Given the description of an element on the screen output the (x, y) to click on. 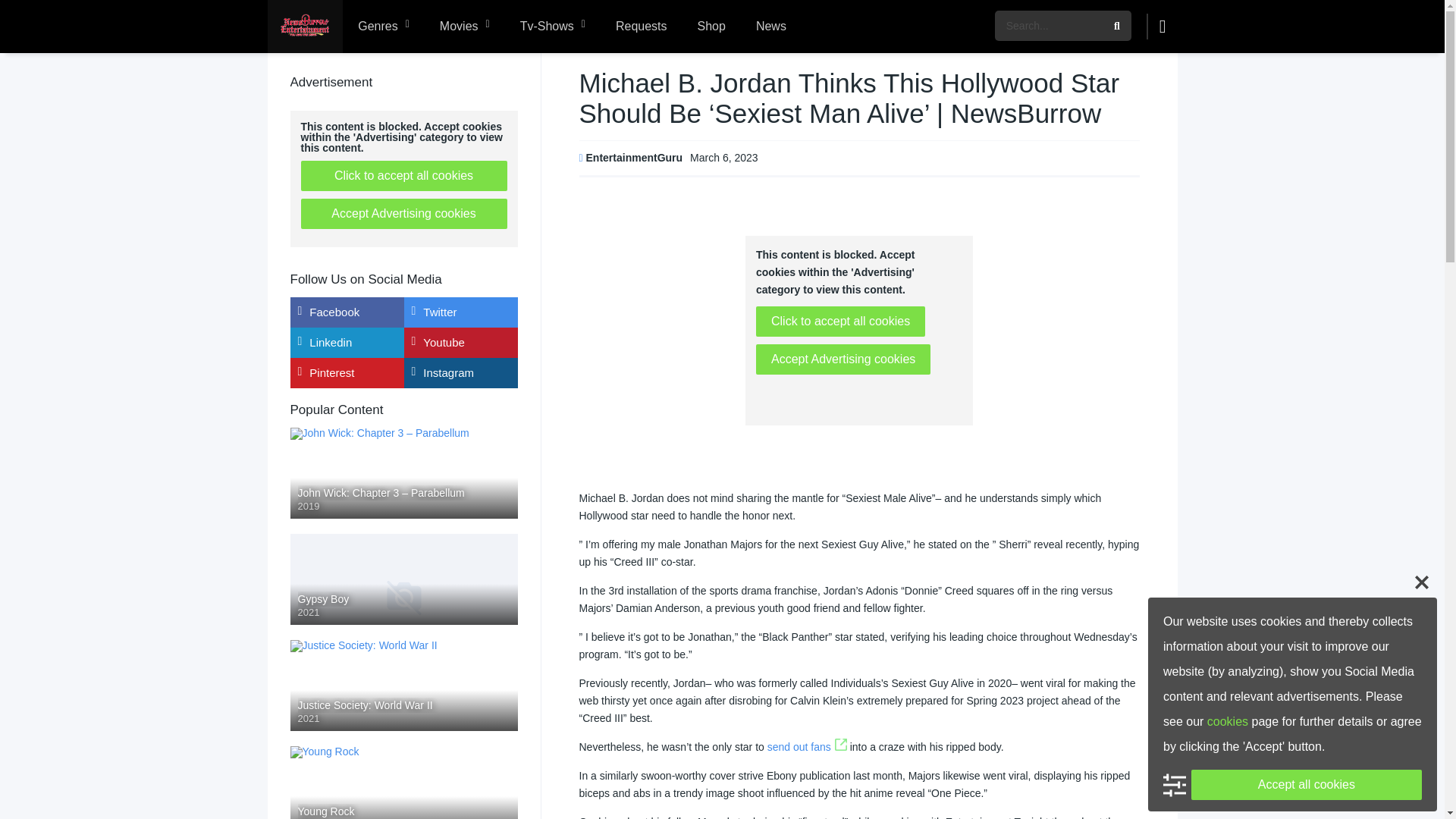
Shop (711, 26)
News (771, 26)
Genres (383, 26)
Open cookie settings (1174, 784)
Tv-Shows (552, 26)
Movies (465, 26)
Requests (640, 26)
Link goes to another page on this site. (840, 746)
